Given the description of an element on the screen output the (x, y) to click on. 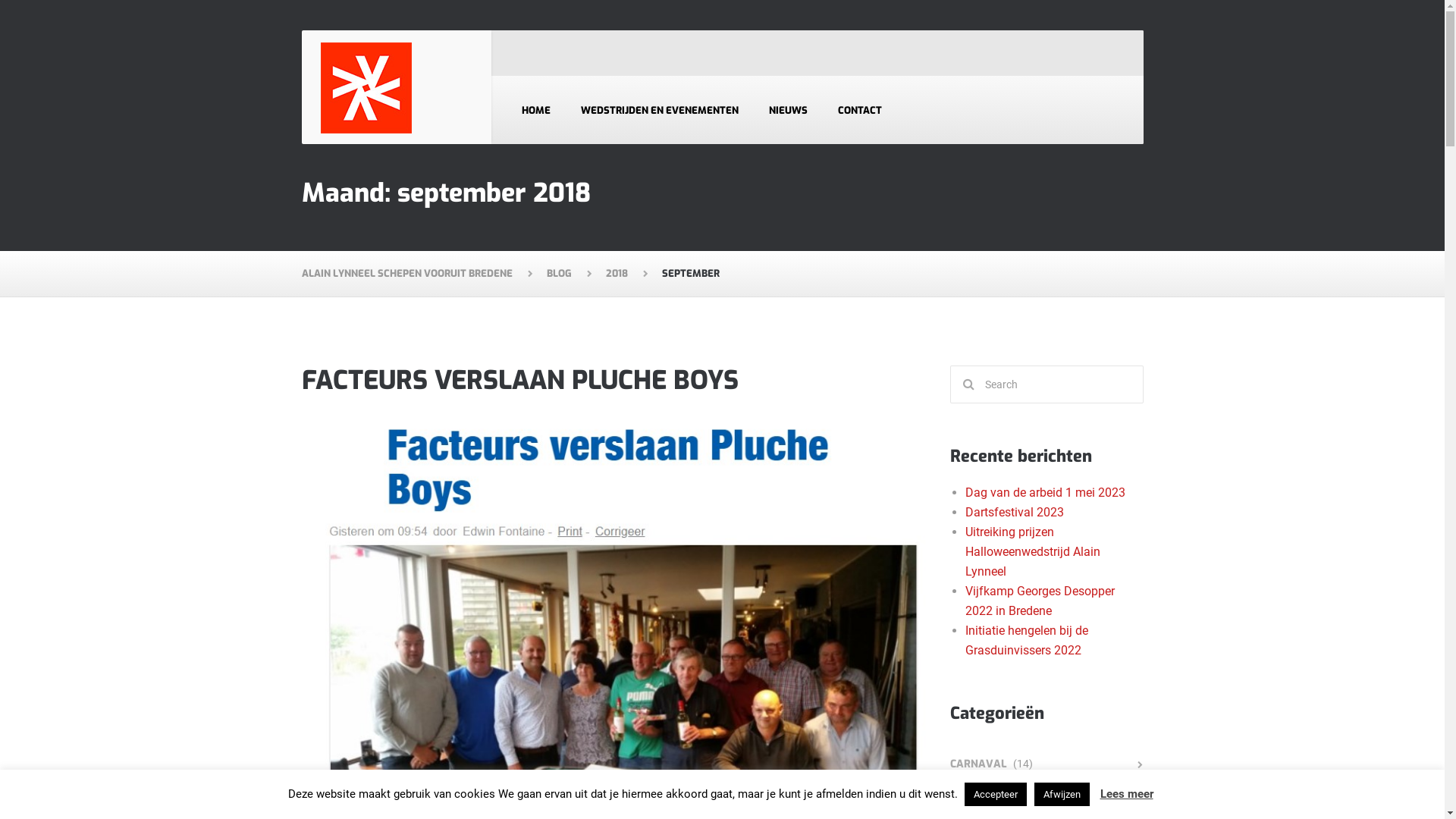
CARNAVAL Element type: text (977, 763)
FACTEURS VERSLAAN PLUCHE BOYS Element type: text (519, 380)
Lees meer Element type: text (1125, 793)
ALAIN LYNNEEL SCHEPEN VOORUIT BREDENE Element type: text (416, 273)
Dag van de arbeid 1 mei 2023 Element type: text (1044, 492)
Afwijzen Element type: text (1061, 794)
BLOG Element type: text (567, 273)
HOME Element type: text (535, 109)
Dartsfestival 2023 Element type: text (1013, 512)
WEDSTRIJDEN EN EVENEMENTEN Element type: text (659, 109)
Initiatie hengelen bij de Grasduinvissers 2022 Element type: text (1025, 640)
Uitreiking prijzen Halloweenwedstrijd Alain Lynneel Element type: text (1031, 551)
Vijfkamp Georges Desopper 2022 in Bredene Element type: text (1038, 600)
Accepteer Element type: text (995, 794)
2018 Element type: text (625, 273)
CONTACT Element type: text (859, 109)
NIEUWS Element type: text (787, 109)
